Given the description of an element on the screen output the (x, y) to click on. 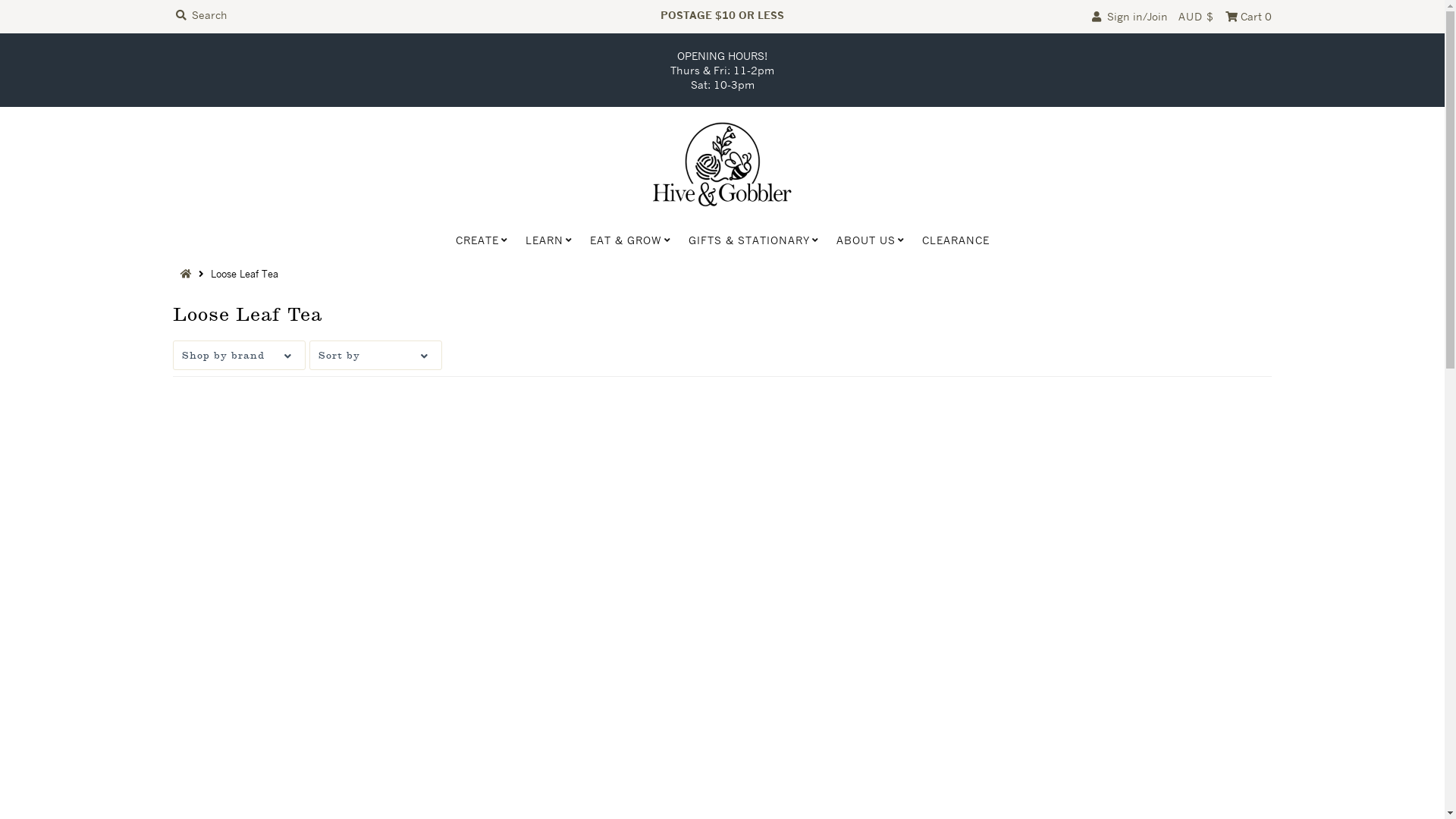
 Cart 0 Element type: text (1248, 16)
EAT & GROW Element type: text (624, 240)
GIFTS & STATIONARY Element type: text (748, 240)
  Sign in/Join Element type: text (1129, 16)
LEARN Element type: text (544, 240)
Back to the frontpage Element type: hover (187, 273)
ABOUT US Element type: text (865, 240)
Shop by brand Element type: text (239, 354)
CLEARANCE Element type: text (955, 240)
Sort by Element type: text (375, 354)
CREATE Element type: text (477, 240)
AUD $ Element type: text (1196, 16)
